Given the description of an element on the screen output the (x, y) to click on. 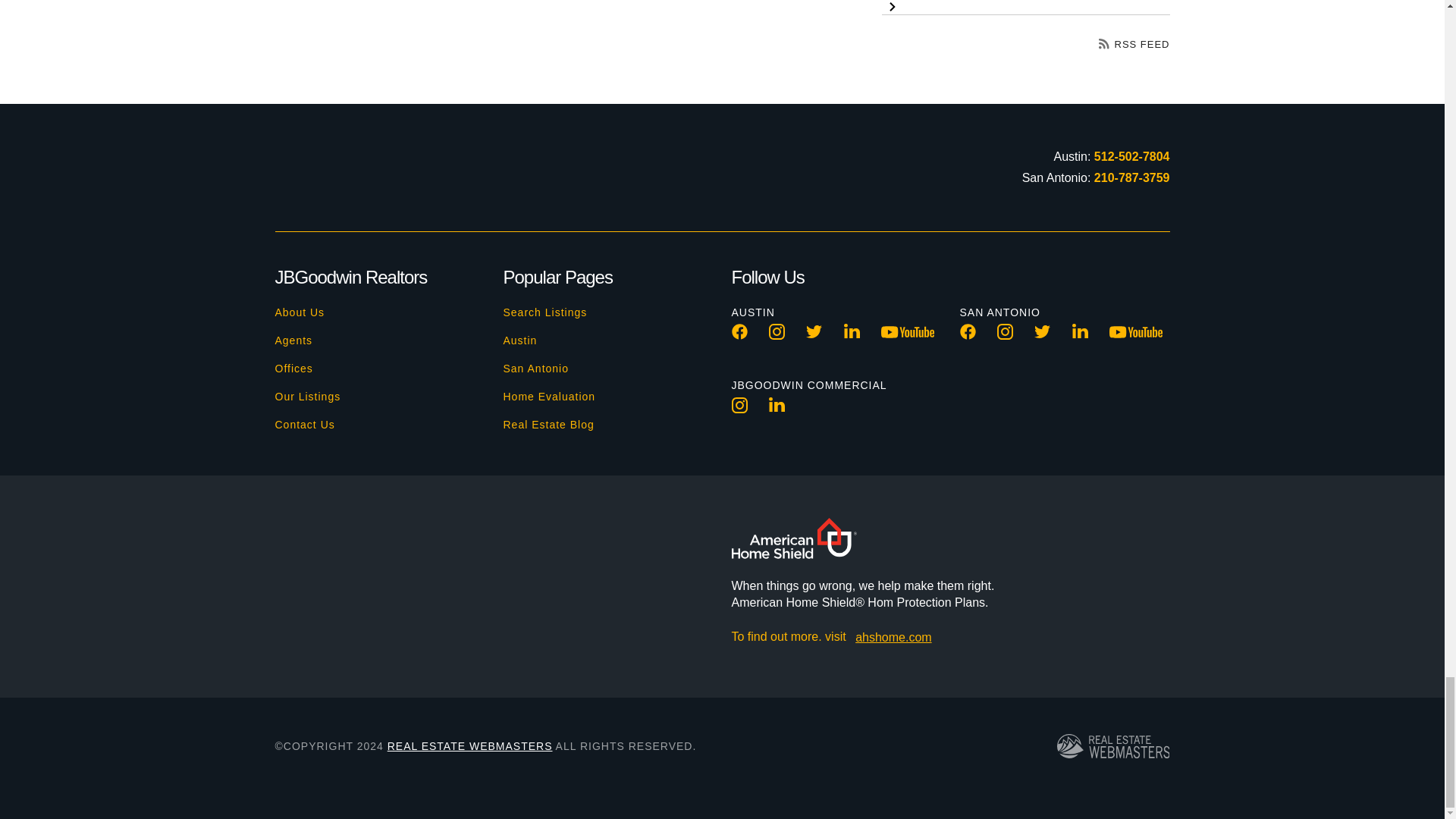
RSS FEED (1134, 43)
